Given the description of an element on the screen output the (x, y) to click on. 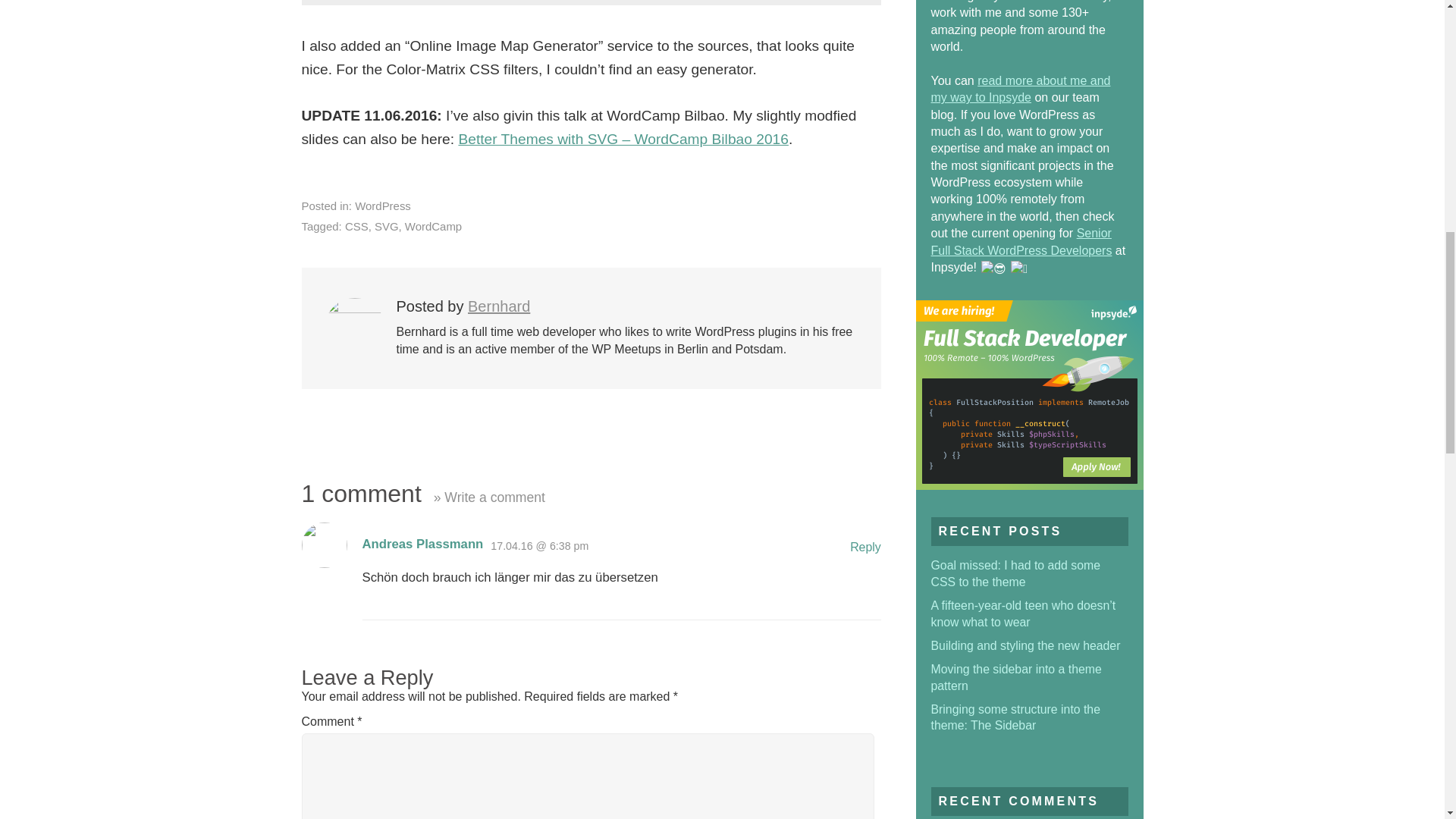
Goal missed: I had to add some CSS to the theme (1015, 573)
Building and styling the new header (1026, 645)
CSS (356, 226)
WordCamp (432, 226)
Senior Full Stack WordPress Developers (1021, 241)
Reply (865, 546)
Bernhard (498, 306)
Moving the sidebar into a theme pattern (1016, 676)
Bernhard (498, 306)
read more about me and my way to Inpsyde (1020, 89)
